Given the description of an element on the screen output the (x, y) to click on. 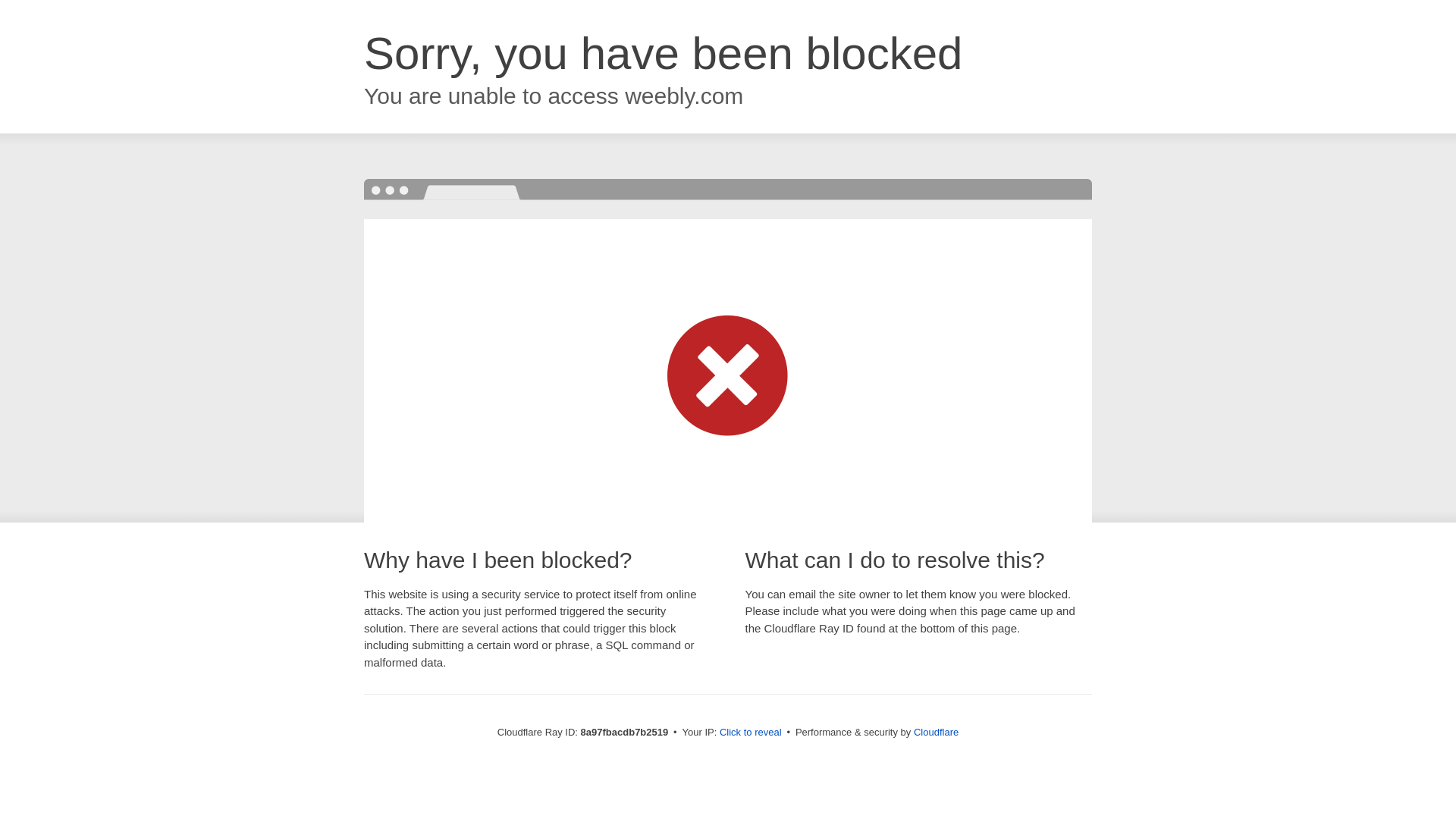
Cloudflare (936, 731)
Click to reveal (750, 732)
